Given the description of an element on the screen output the (x, y) to click on. 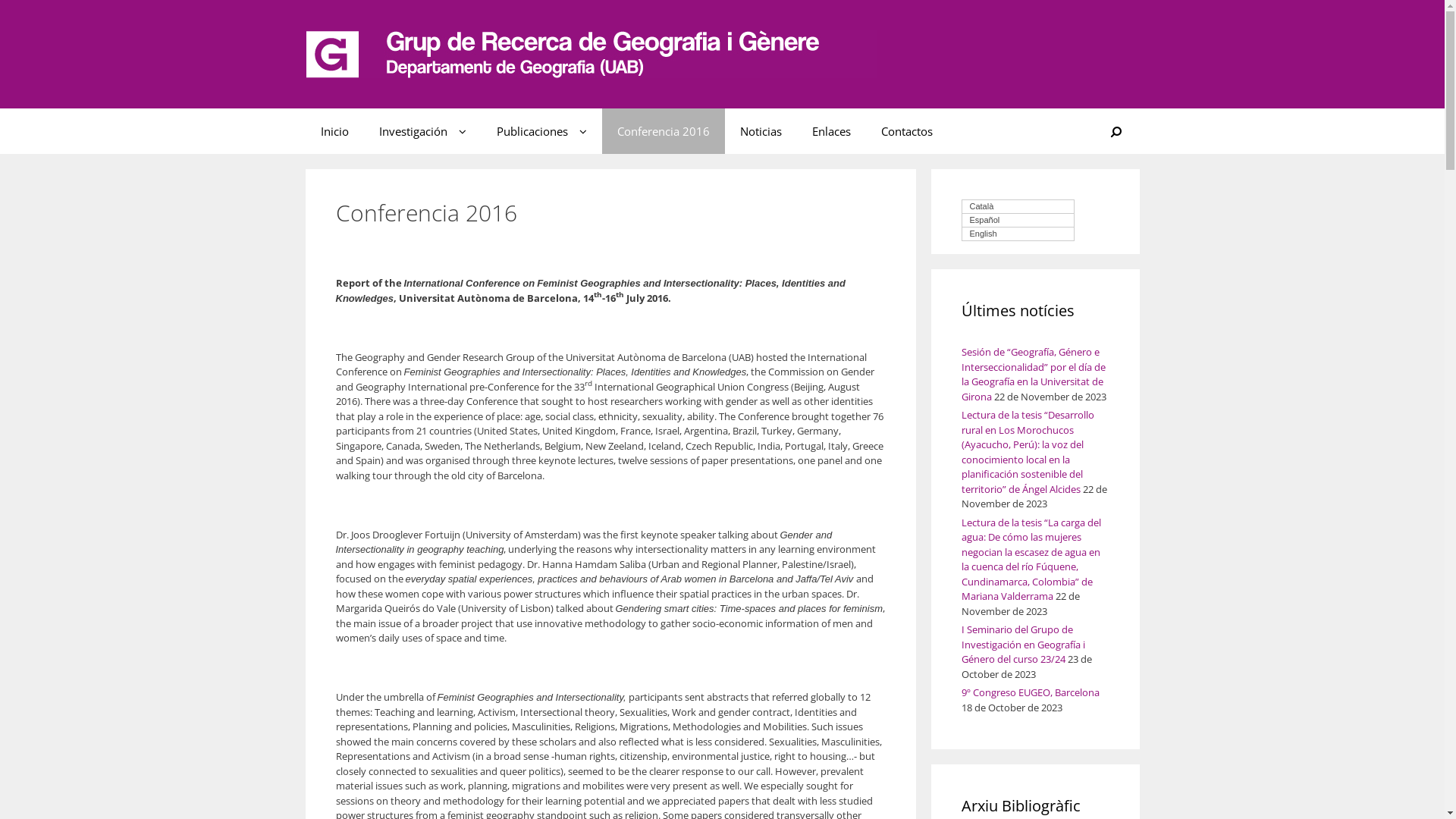
Publicaciones Element type: text (540, 130)
English Element type: text (1017, 234)
Noticias Element type: text (760, 130)
Contactos Element type: text (906, 130)
Inicio Element type: text (333, 130)
Saltar al contenido Element type: text (42, 7)
Enlaces Element type: text (830, 130)
Buscar Element type: hover (1116, 130)
Conferencia 2016 Element type: text (663, 130)
